Given the description of an element on the screen output the (x, y) to click on. 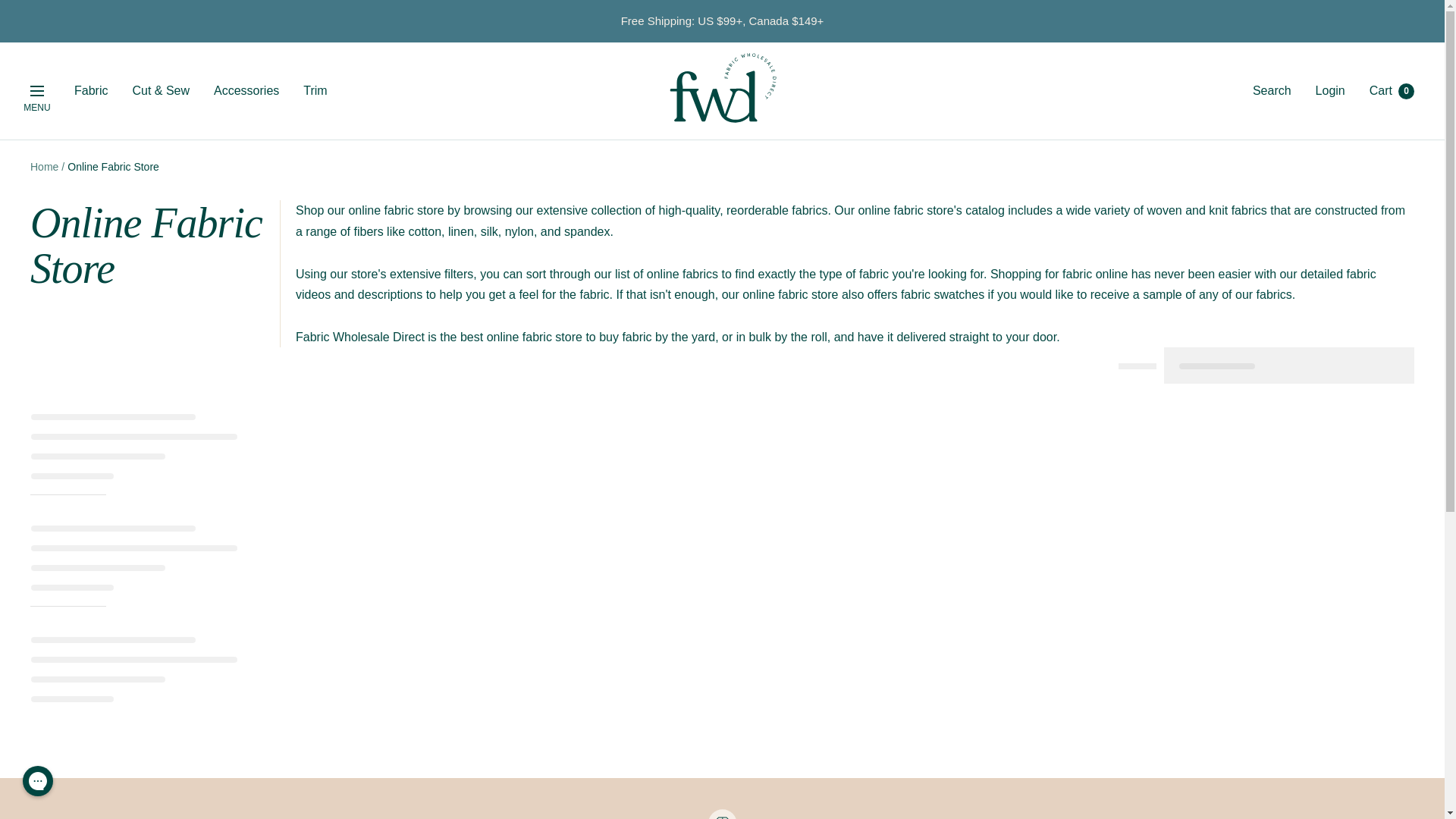
Accessories (246, 90)
Fabric (90, 90)
Login (1330, 90)
Search (1271, 90)
Trim (314, 90)
